Given the description of an element on the screen output the (x, y) to click on. 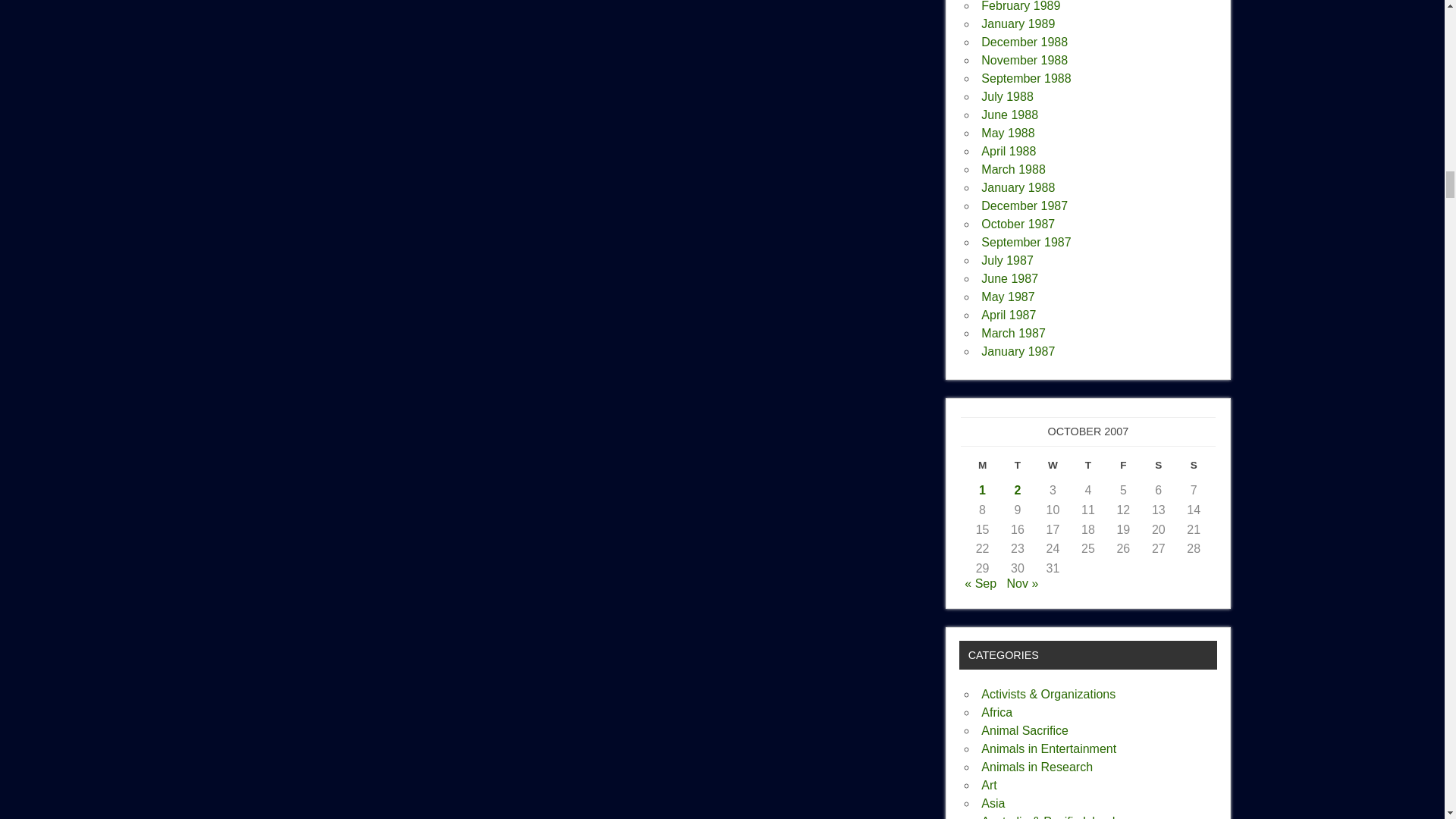
Friday (1122, 468)
Monday (980, 468)
Saturday (1158, 468)
Tuesday (1017, 468)
Sunday (1193, 468)
Wednesday (1052, 468)
Thursday (1087, 468)
